Given the description of an element on the screen output the (x, y) to click on. 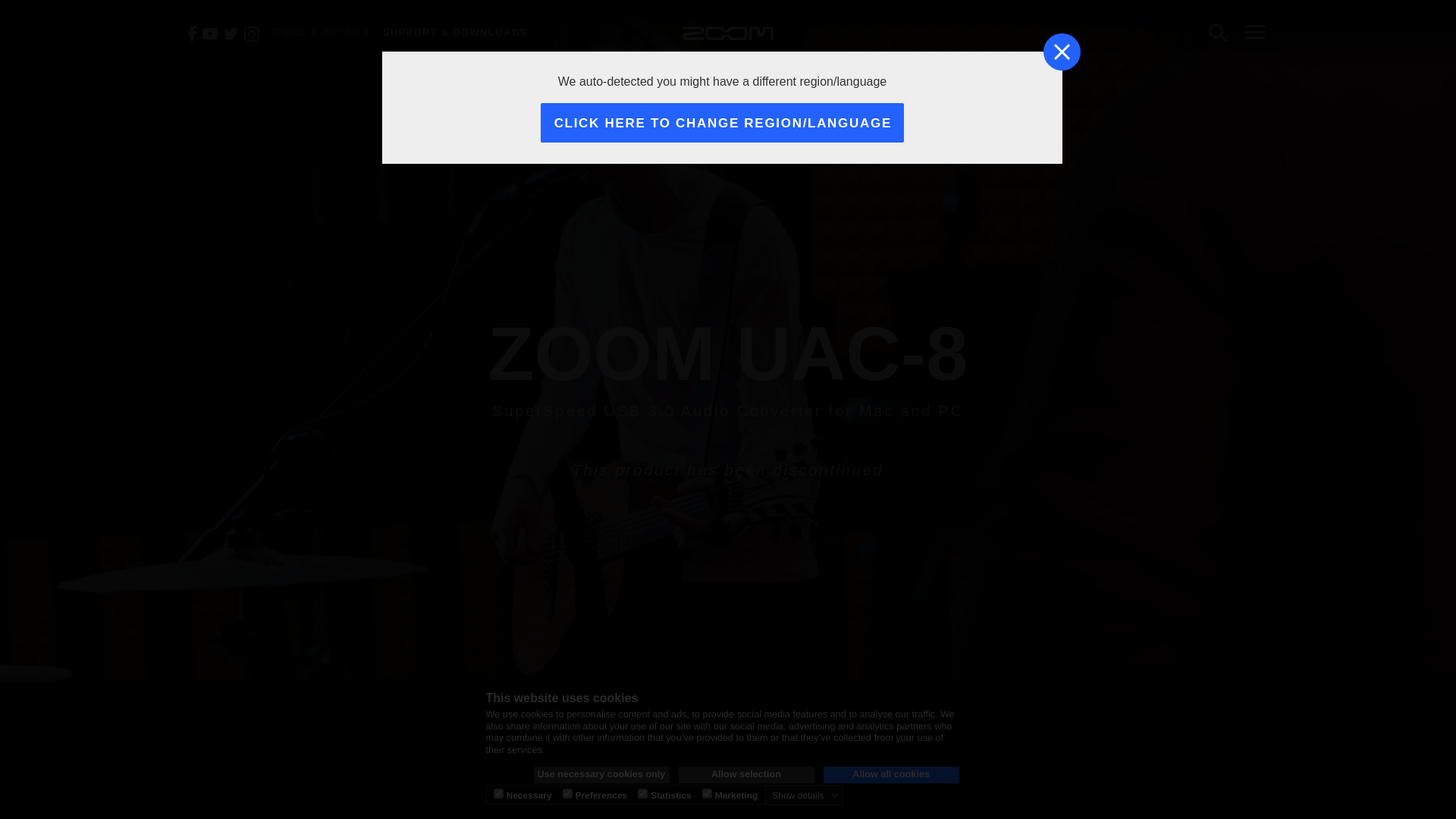
Allow all cookies (891, 774)
YOUTUBE (210, 33)
on (642, 793)
on (497, 793)
Allow selection (745, 774)
on (706, 793)
on (567, 793)
TWITTER (230, 33)
Use necessary cookies only (601, 774)
INSTAGRAM (251, 33)
Show details (804, 795)
